Given the description of an element on the screen output the (x, y) to click on. 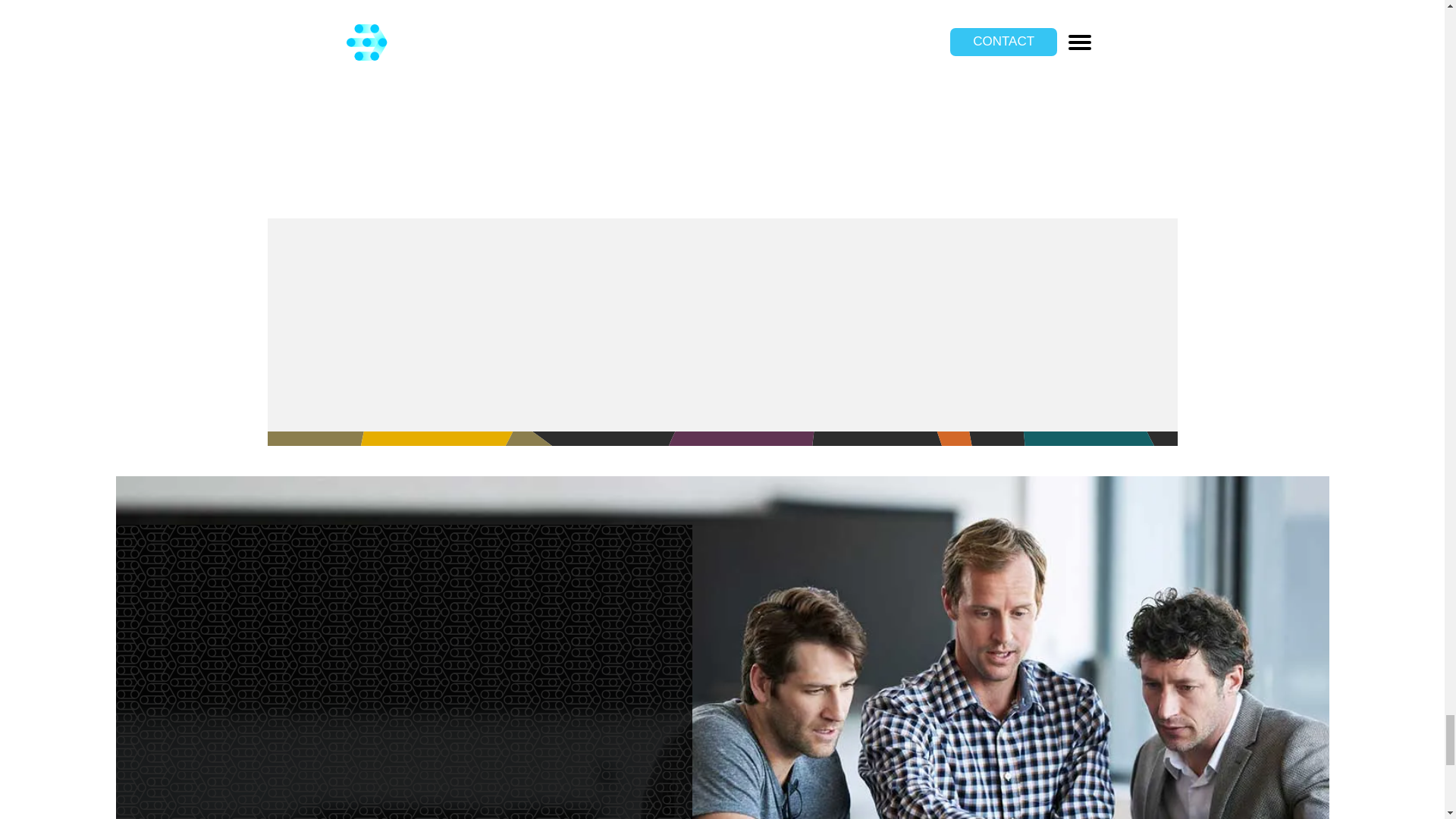
Download now (600, 187)
